Given the description of an element on the screen output the (x, y) to click on. 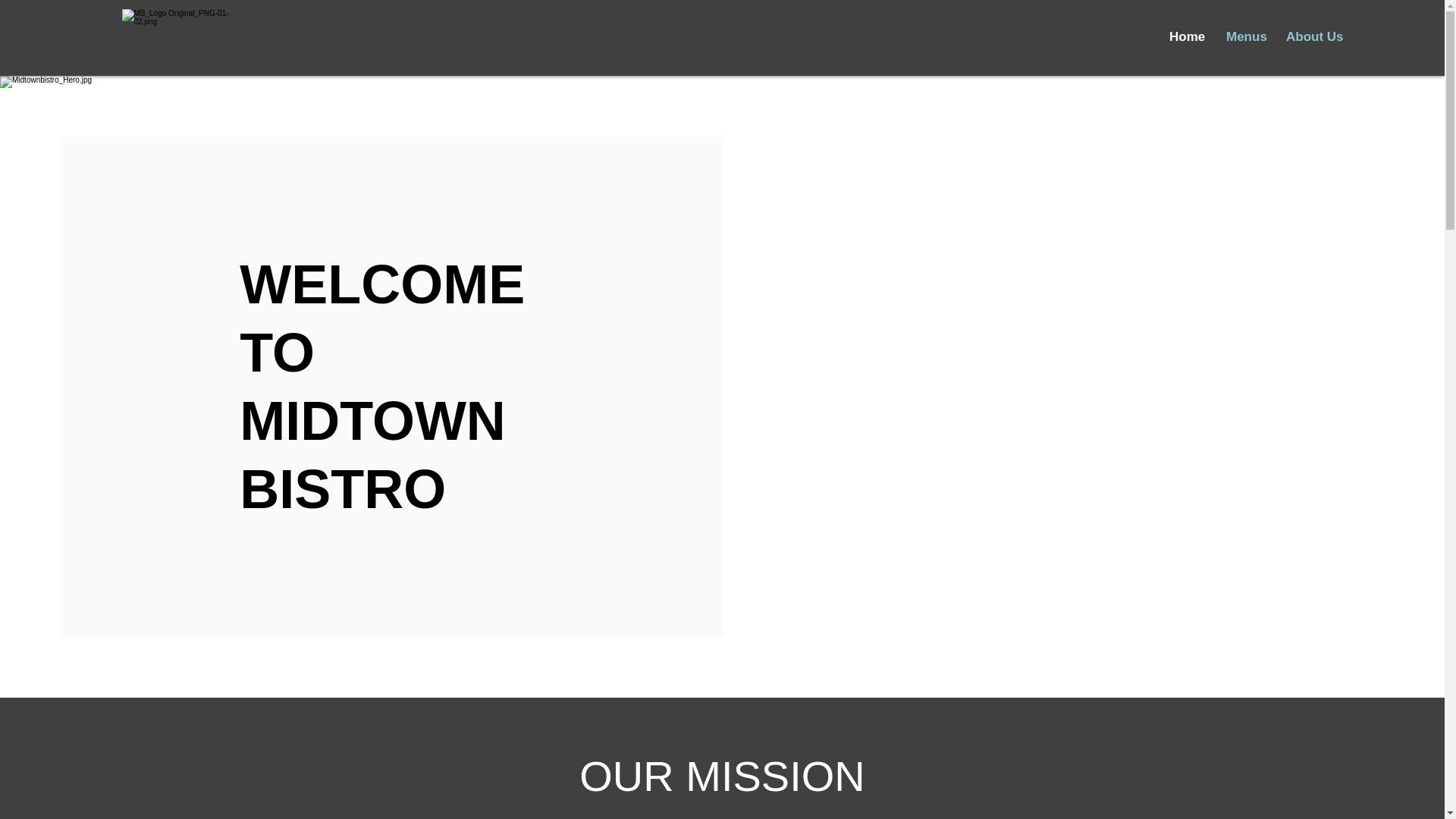
Home (1185, 36)
About Us (1313, 36)
Menus (1244, 36)
